Given the description of an element on the screen output the (x, y) to click on. 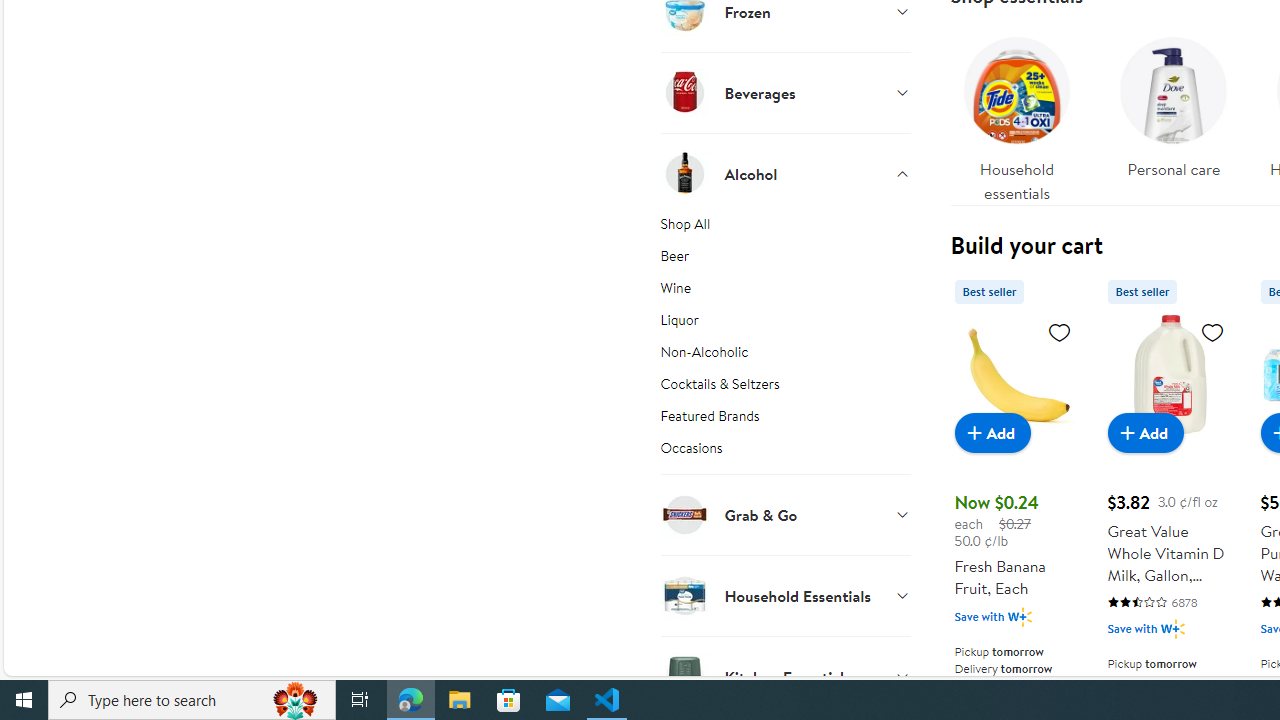
Non-Alcoholic (785, 356)
Household essentials (1016, 114)
Beer (785, 260)
Cocktails & Seltzers (785, 387)
Grab & Go (785, 514)
Alcohol (785, 173)
Household Essentials (785, 595)
Household essentials (1016, 114)
Cocktails & Seltzers (785, 387)
Kitchen Essentials (785, 676)
Wine (785, 291)
